Given the description of an element on the screen output the (x, y) to click on. 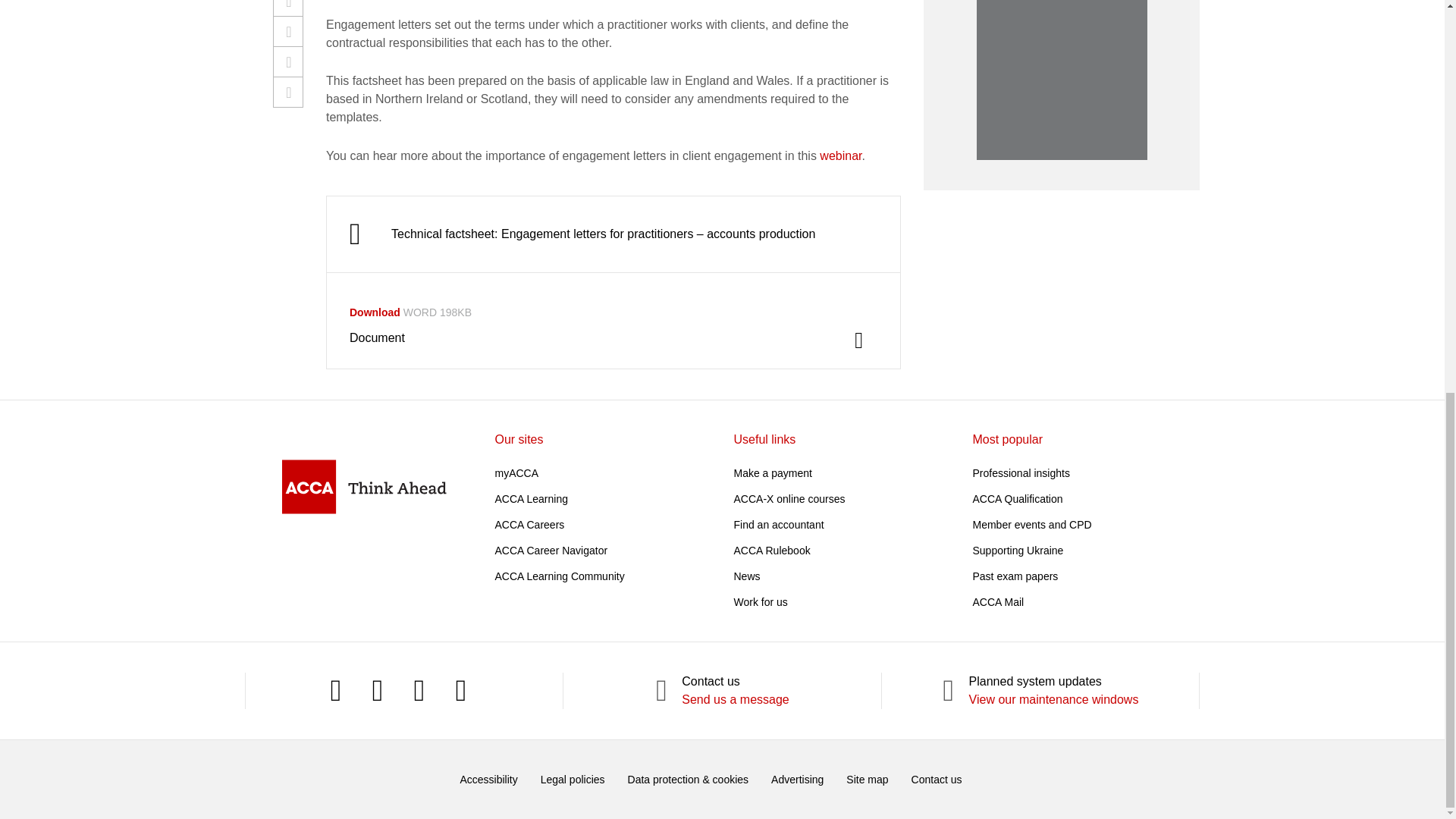
Supporting Ukraine (1017, 550)
ACCA Learning Community (559, 576)
ACCA Career Navigator (551, 550)
ACCA Careers (529, 524)
ACCA Rulebook (771, 550)
myACCA (516, 472)
Home Link (364, 486)
Find an accountant (778, 524)
ACCA Qualification (1017, 499)
Professional insights (1020, 472)
